Given the description of an element on the screen output the (x, y) to click on. 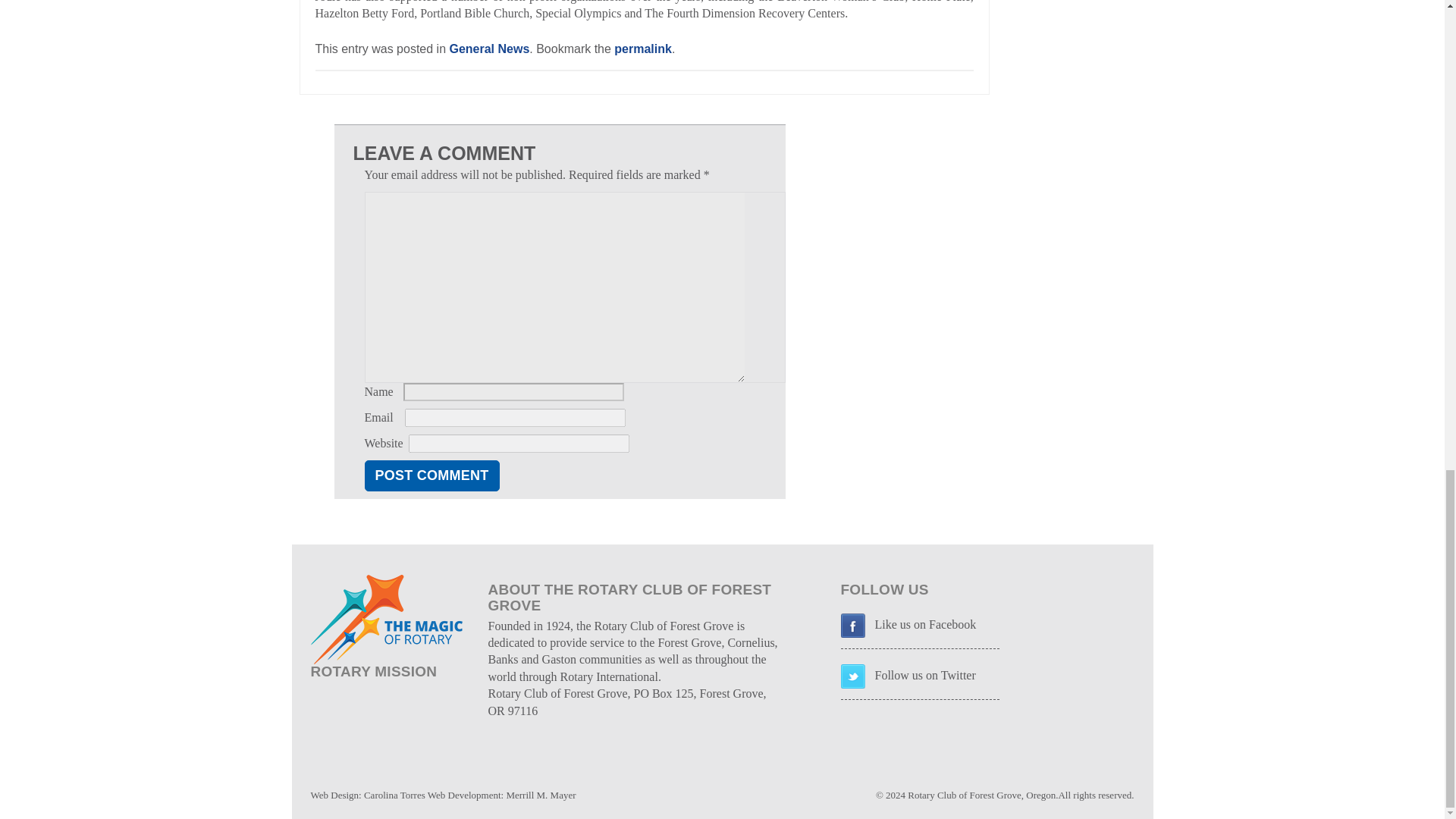
Post Comment (431, 475)
Permalink to Welcome To Our Newest Member, Jodie Loeks (642, 48)
permalink (642, 48)
General News (488, 48)
Post Comment (431, 475)
